Given the description of an element on the screen output the (x, y) to click on. 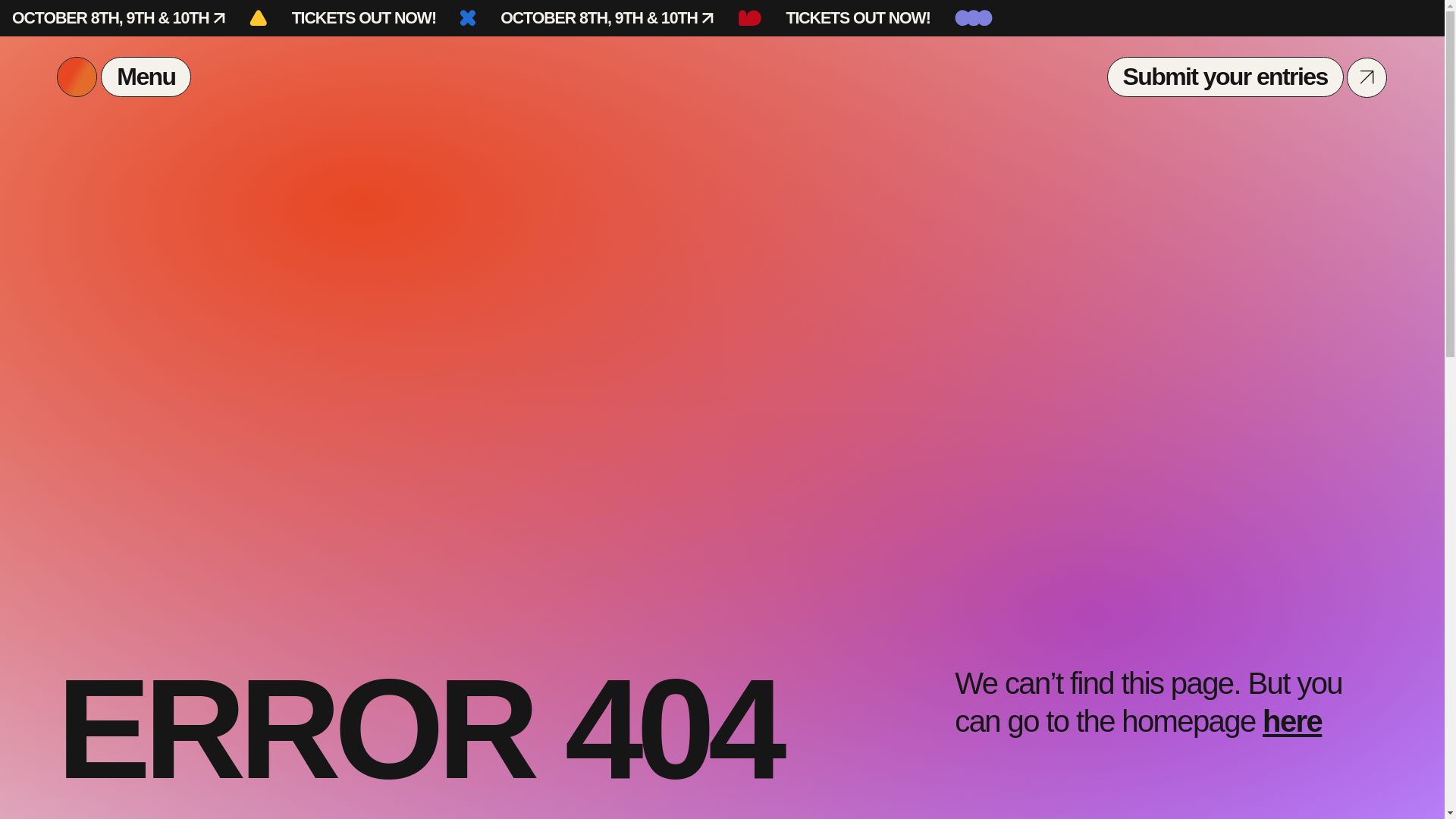
TICKETS OUT NOW! (363, 18)
Submit your entries (1224, 76)
here (1292, 720)
Menu (124, 76)
TICKETS OUT NOW! (858, 18)
